Given the description of an element on the screen output the (x, y) to click on. 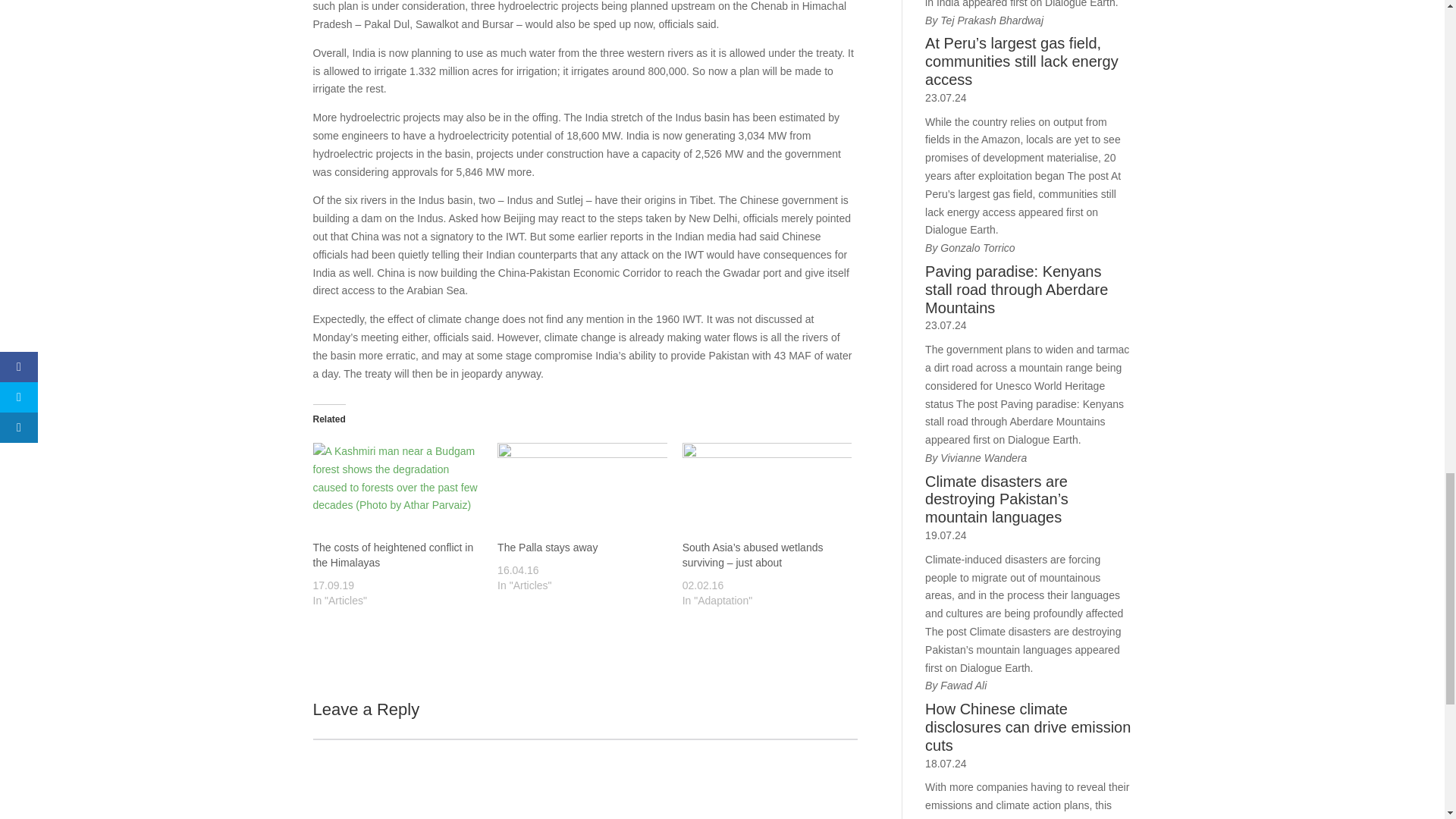
How Chinese climate disclosures can drive emission cuts (1027, 727)
The costs of heightened conflict in the Himalayas (393, 554)
The Palla stays away (581, 491)
The Palla stays away (546, 547)
The costs of heightened conflict in the Himalayas (393, 554)
The costs of heightened conflict in the Himalayas (397, 491)
The Palla stays away (546, 547)
